Given the description of an element on the screen output the (x, y) to click on. 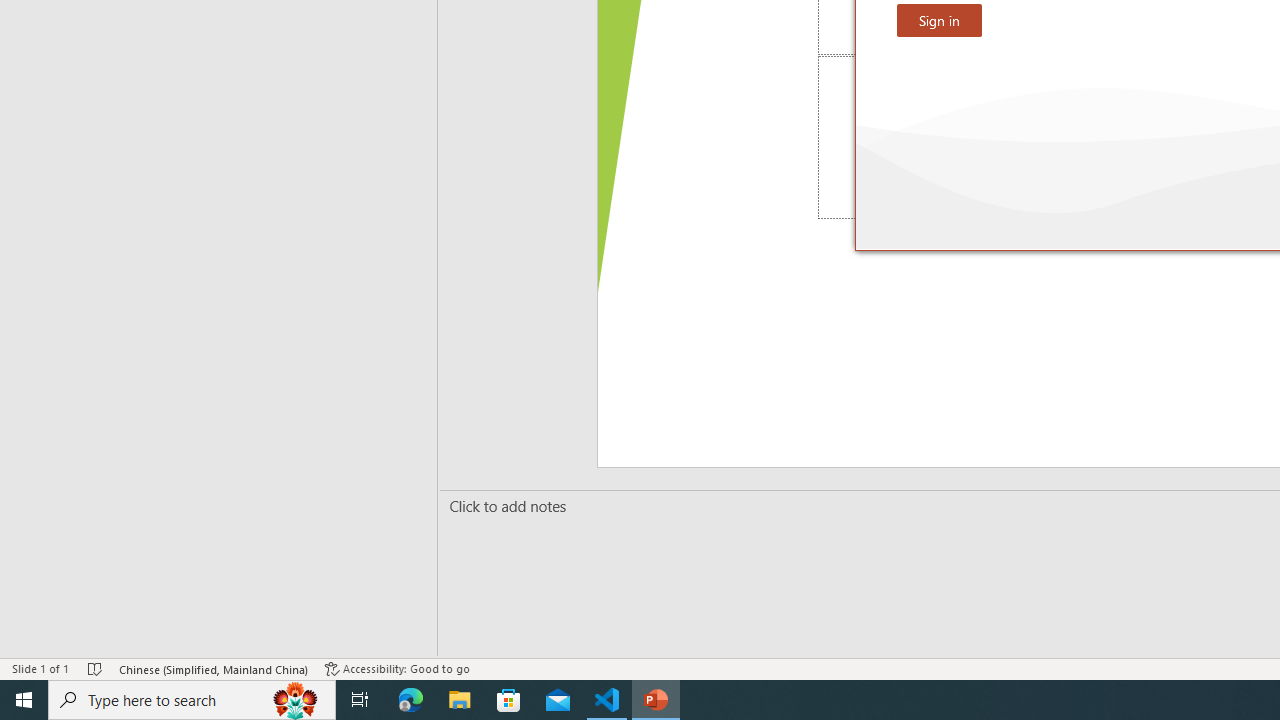
Accessibility Checker Accessibility: Good to go (397, 668)
Sign in (939, 20)
Microsoft Edge (411, 699)
